Given the description of an element on the screen output the (x, y) to click on. 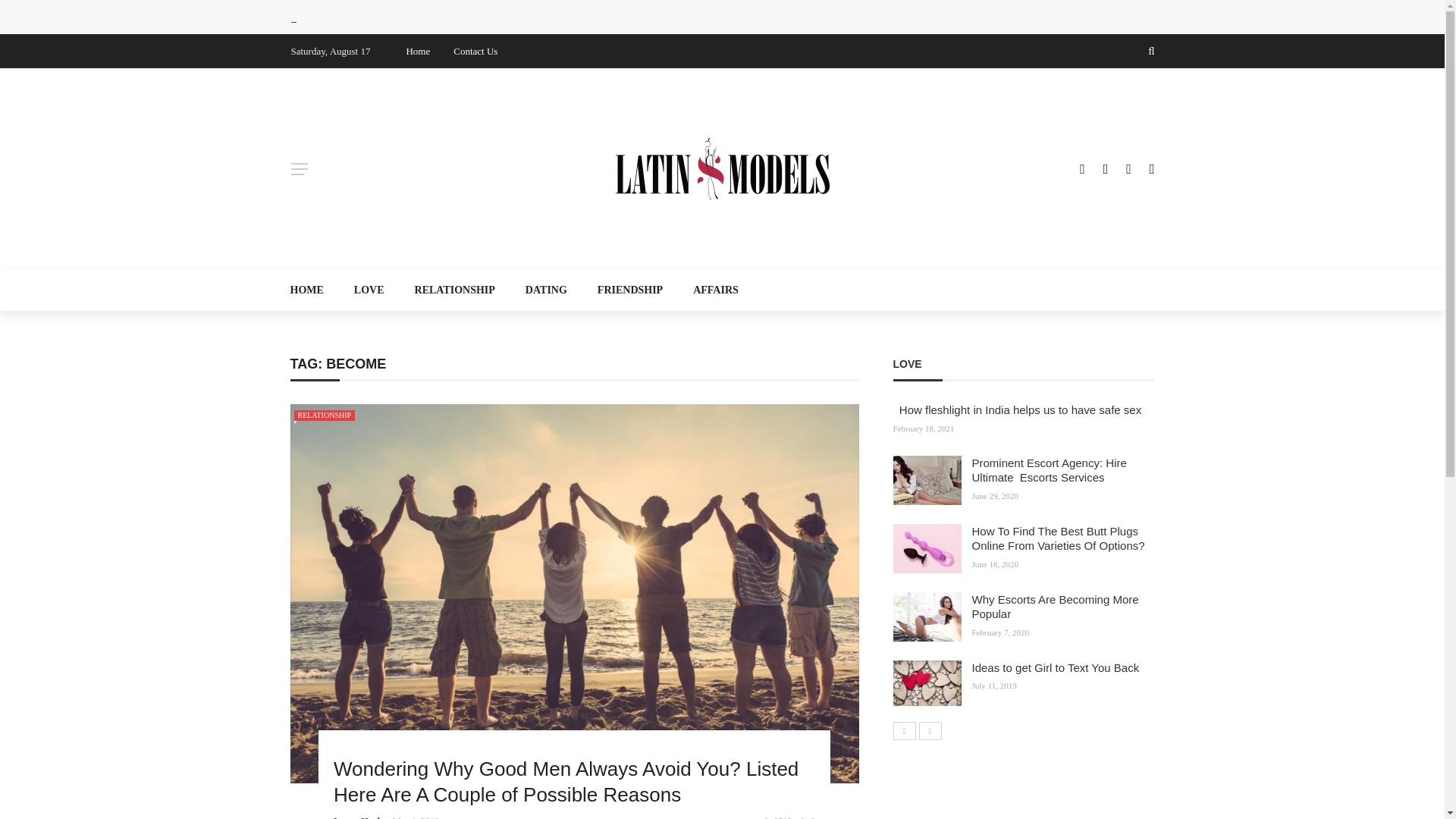
  How fleshlight in India helps us to have safe sex (1017, 409)
Why Escorts Are Becoming More Popular (1055, 606)
RELATIONSHIP (324, 415)
Contact Us (474, 50)
AFFAIRS (708, 290)
DATING (546, 290)
FRIENDSHIP (630, 290)
Next (930, 730)
LOVE (368, 290)
